Given the description of an element on the screen output the (x, y) to click on. 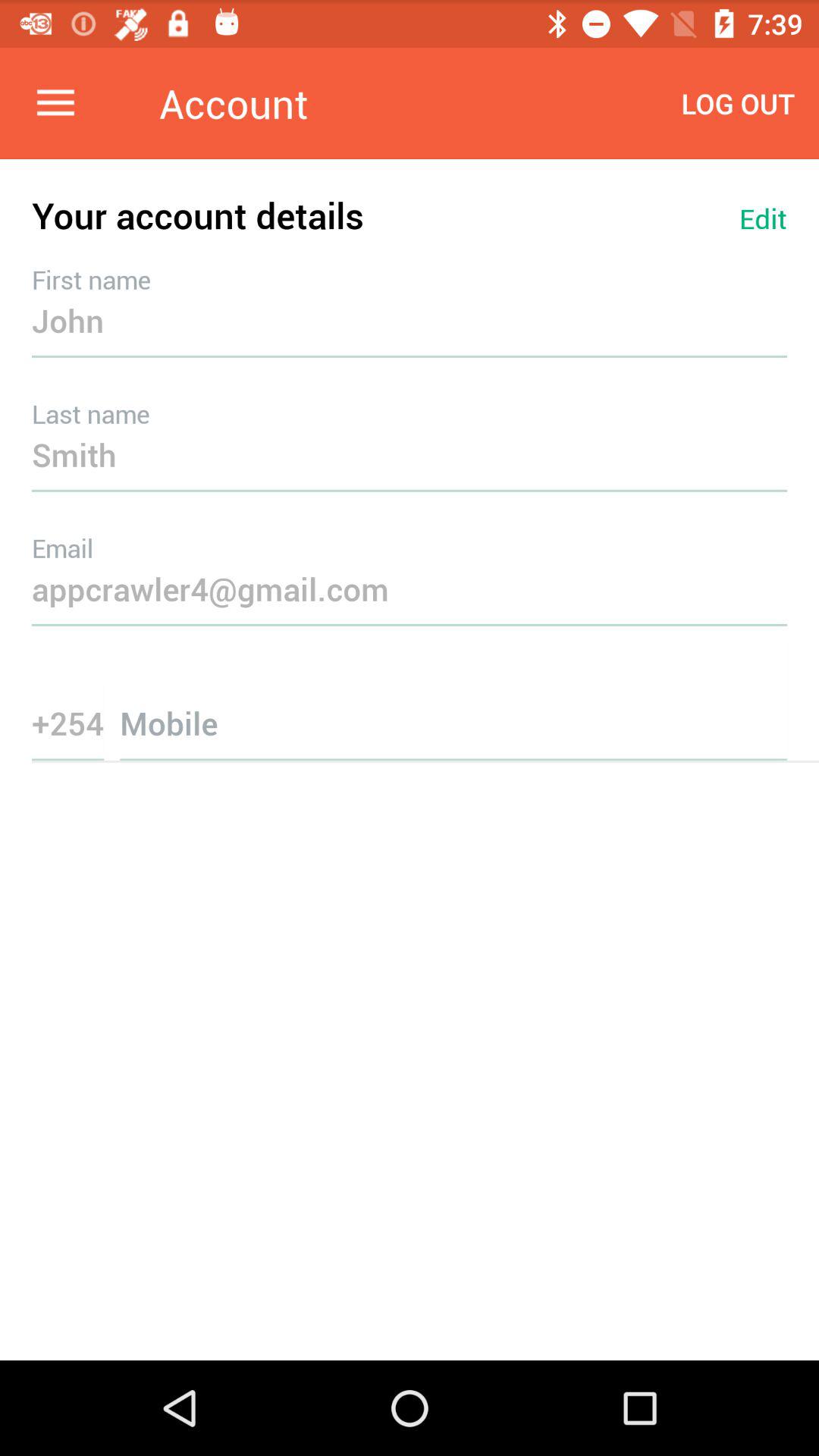
flip to log out item (738, 103)
